Given the description of an element on the screen output the (x, y) to click on. 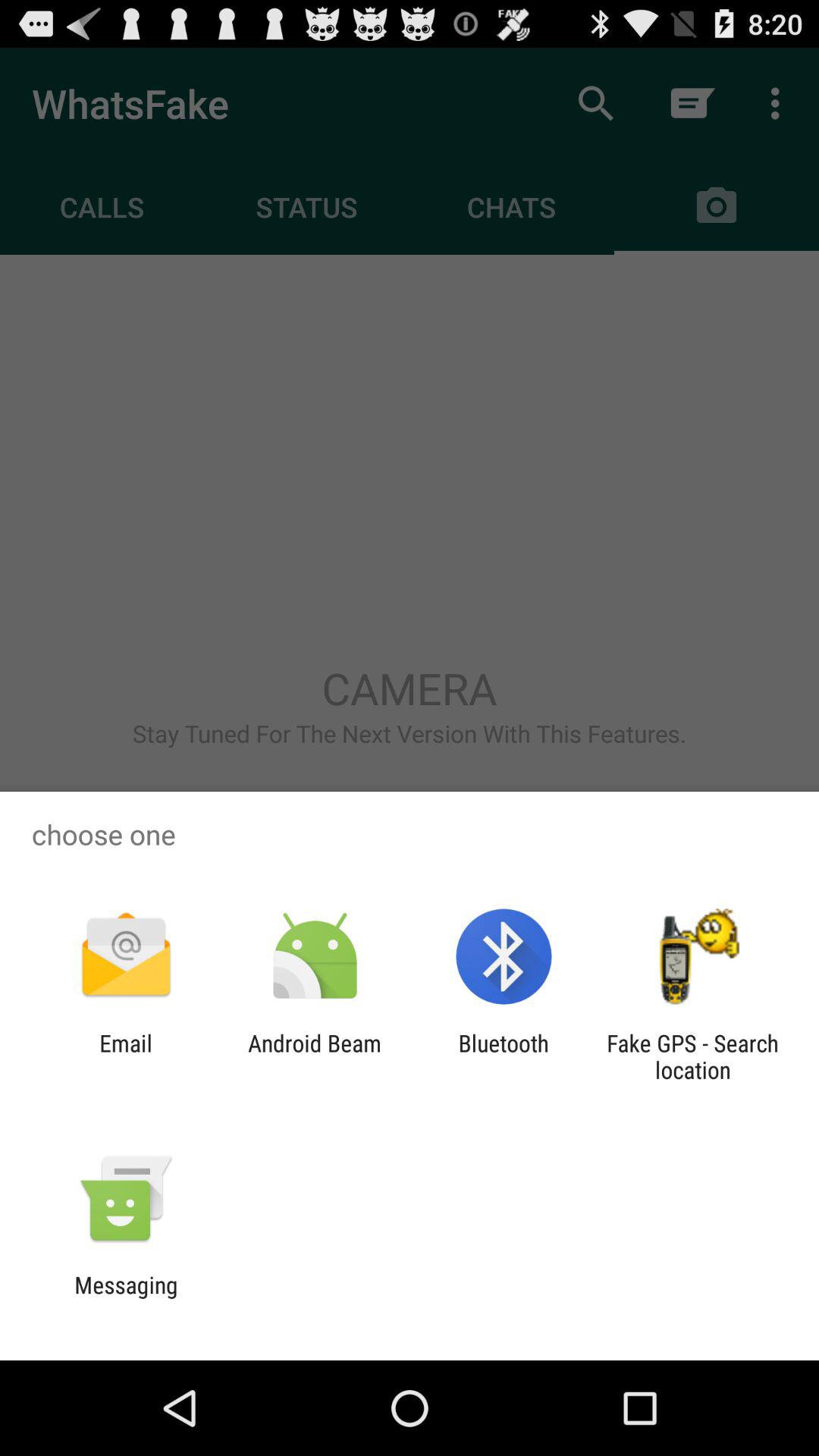
tap android beam app (314, 1056)
